Given the description of an element on the screen output the (x, y) to click on. 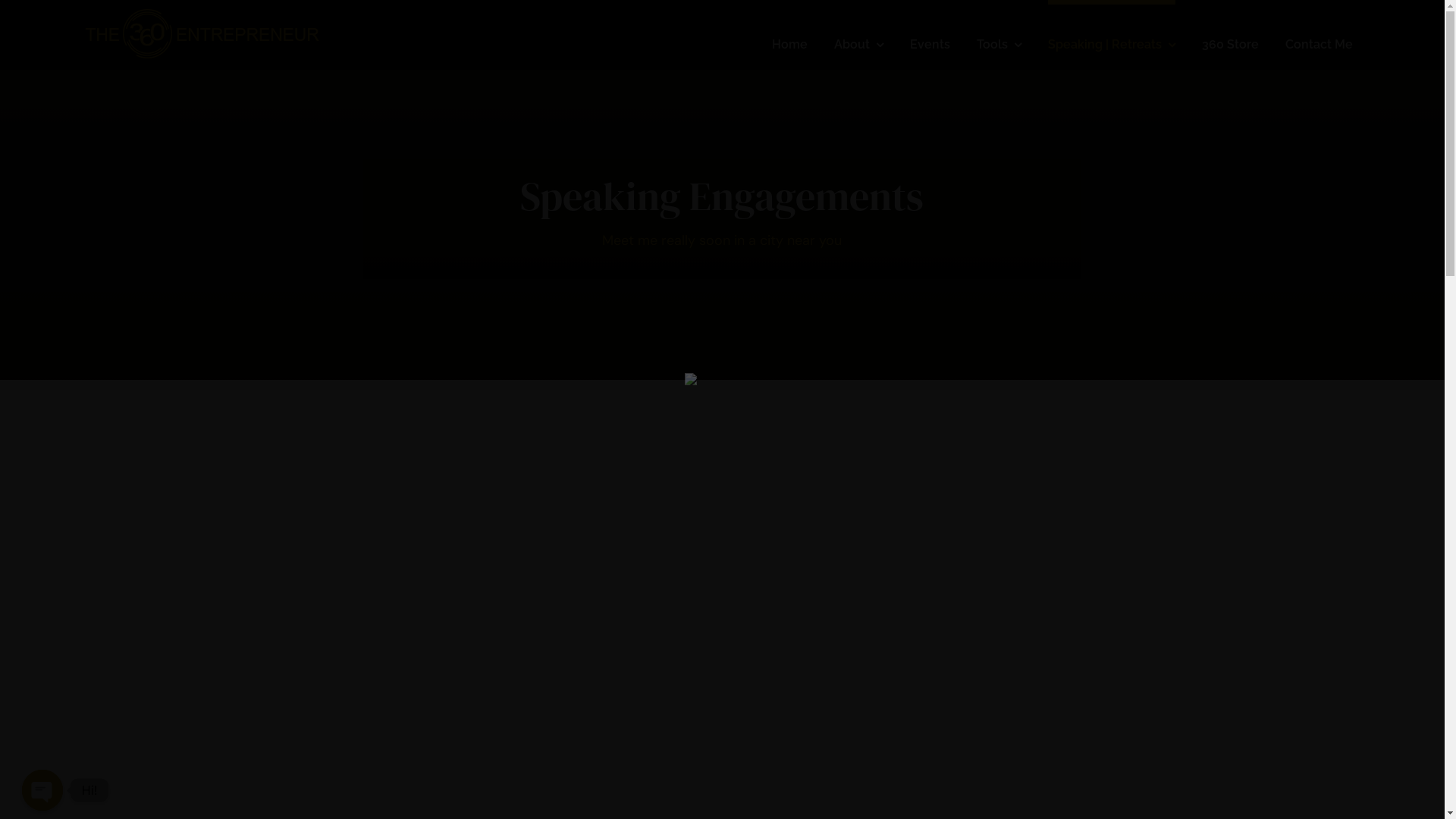
Contact Me Element type: text (1318, 34)
About Element type: text (858, 34)
360 Store Element type: text (1229, 34)
Tools Element type: text (998, 34)
Home Element type: text (789, 34)
Speaking | Retreats Element type: text (1111, 34)
Events Element type: text (930, 34)
